Given the description of an element on the screen output the (x, y) to click on. 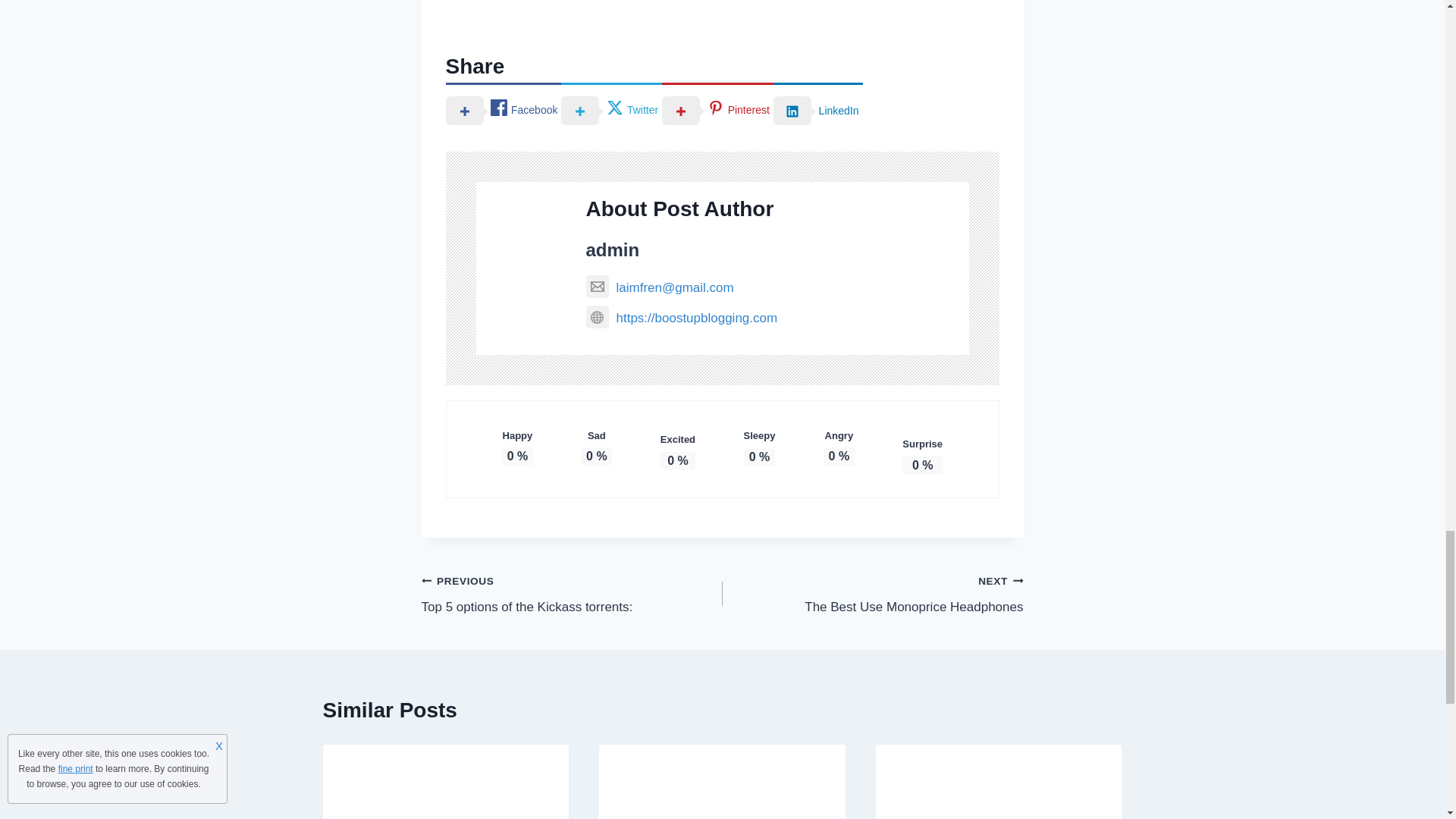
LinkedIn (818, 108)
admin (612, 249)
Twitter (611, 108)
Pinterest (717, 108)
Facebook (572, 594)
